Given the description of an element on the screen output the (x, y) to click on. 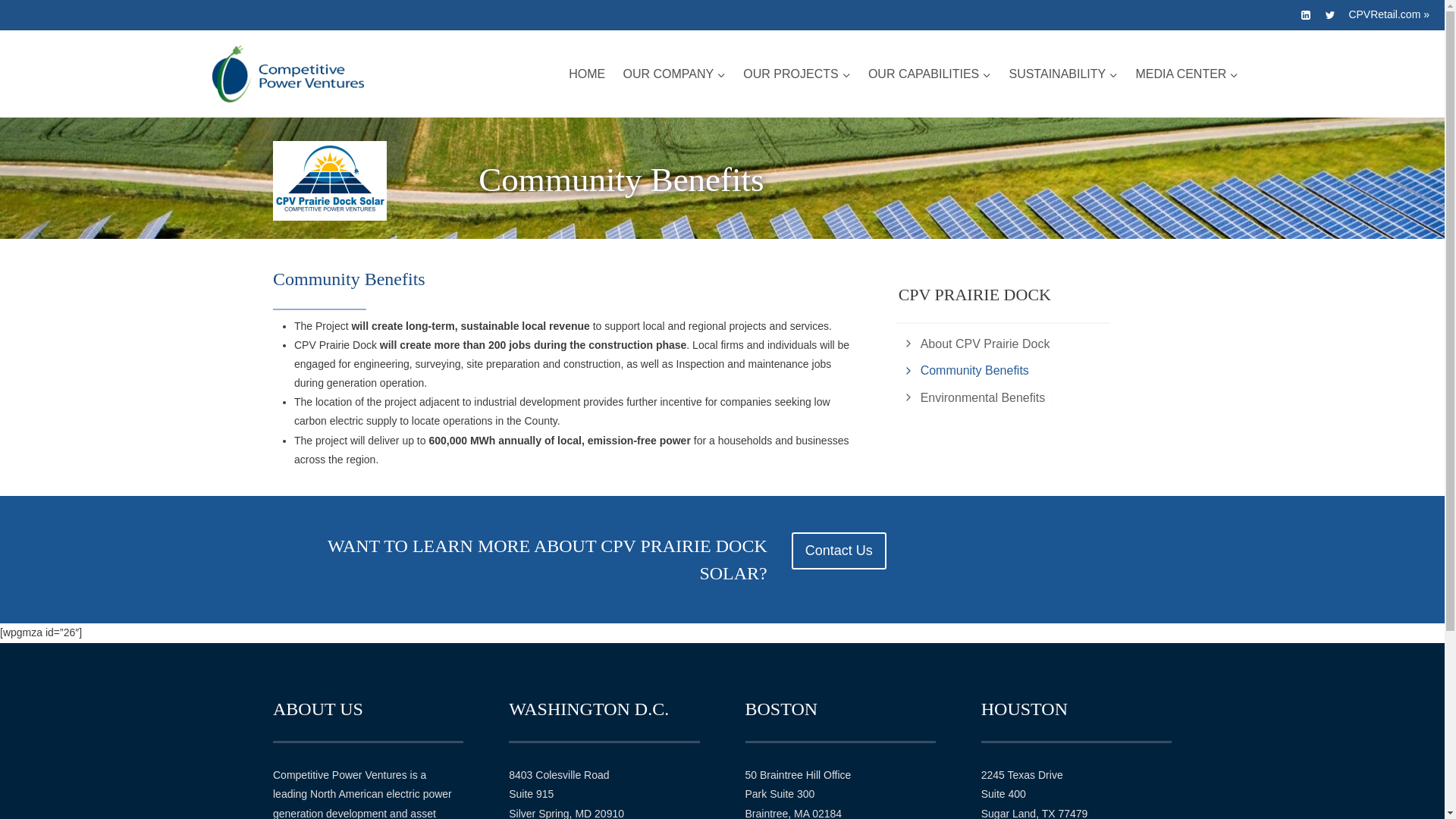
OUR COMPANY (674, 73)
CPVRetail.com (1384, 14)
OUR CAPABILITIES (929, 73)
HOME (587, 73)
SUSTAINABILITY (1063, 73)
OUR PROJECTS (797, 73)
